Given the description of an element on the screen output the (x, y) to click on. 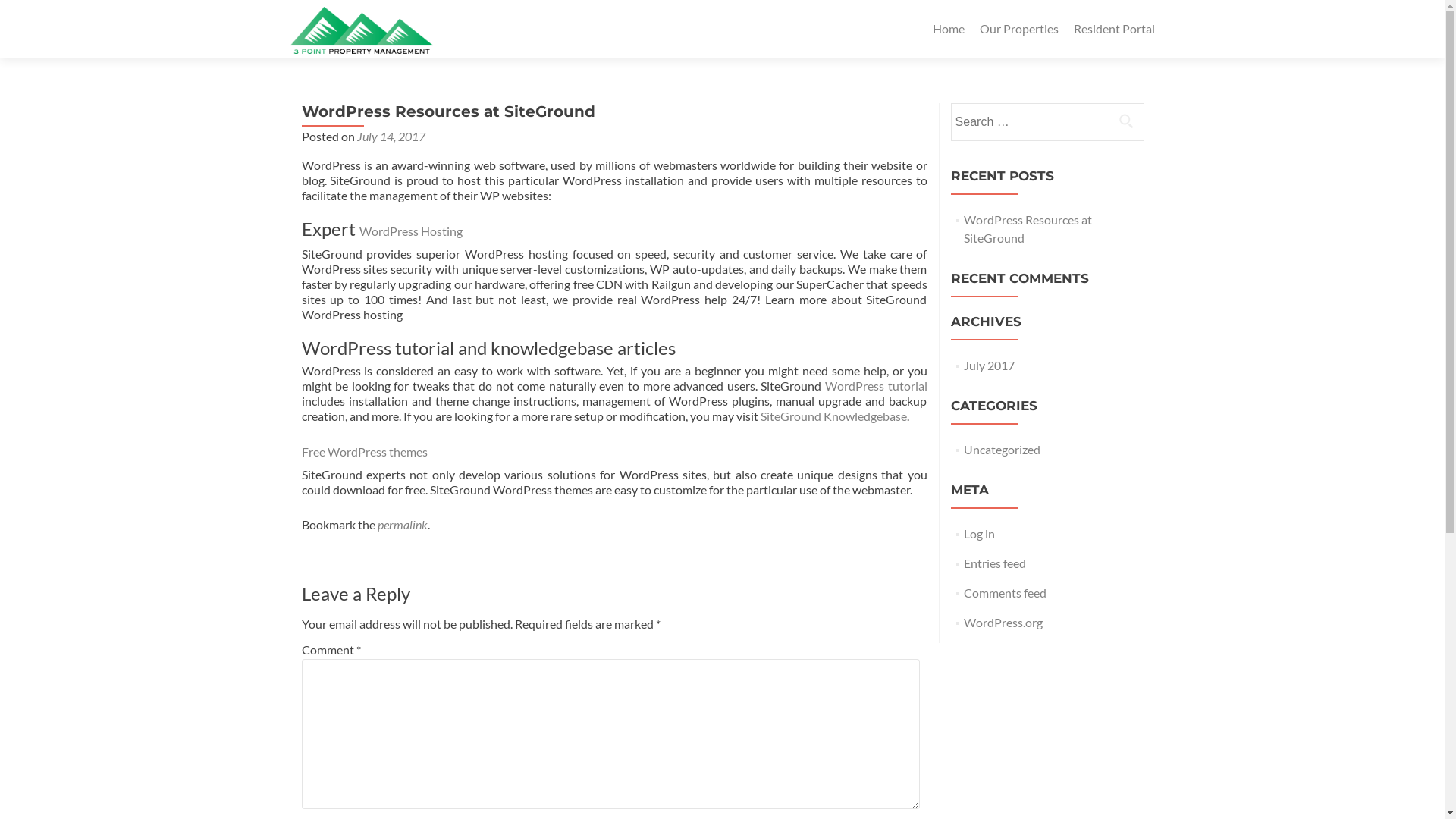
Log in Element type: text (978, 533)
Our Properties Element type: text (1018, 28)
permalink Element type: text (402, 524)
WordPress Hosting Element type: text (410, 230)
WordPress Resources at SiteGround Element type: text (1027, 228)
July 14, 2017 Element type: text (390, 135)
Search Element type: text (1125, 120)
SiteGround Knowledgebase Element type: text (832, 415)
Free WordPress themes Element type: text (364, 451)
July 2017 Element type: text (988, 364)
Resident Portal Element type: text (1113, 28)
WordPress tutorial Element type: text (876, 385)
Uncategorized Element type: text (1001, 449)
Home Element type: text (948, 28)
Comments feed Element type: text (1004, 592)
WordPress.org Element type: text (1002, 622)
Entries feed Element type: text (994, 562)
